Given the description of an element on the screen output the (x, y) to click on. 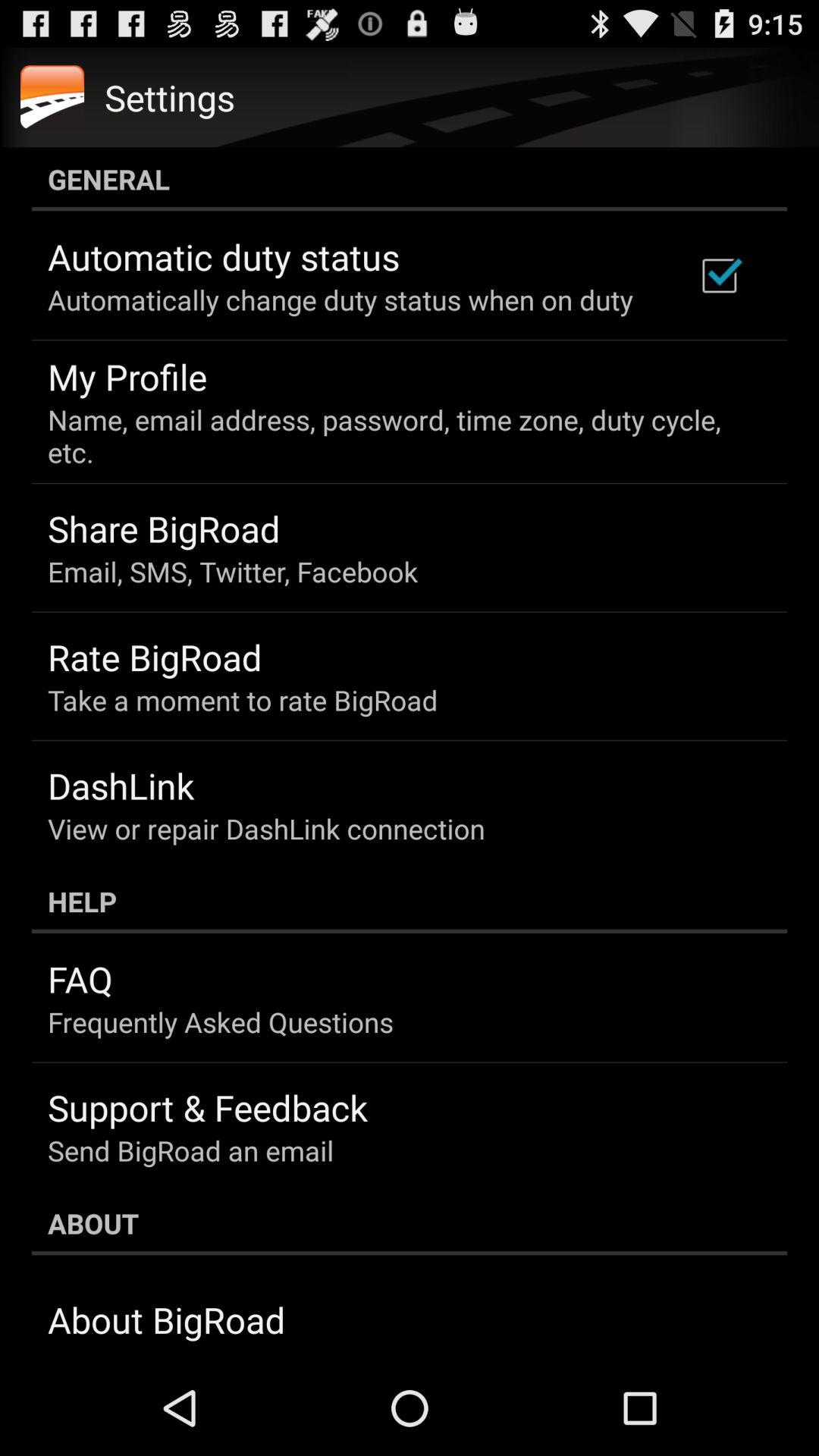
launch the icon below the dashlink item (266, 828)
